Given the description of an element on the screen output the (x, y) to click on. 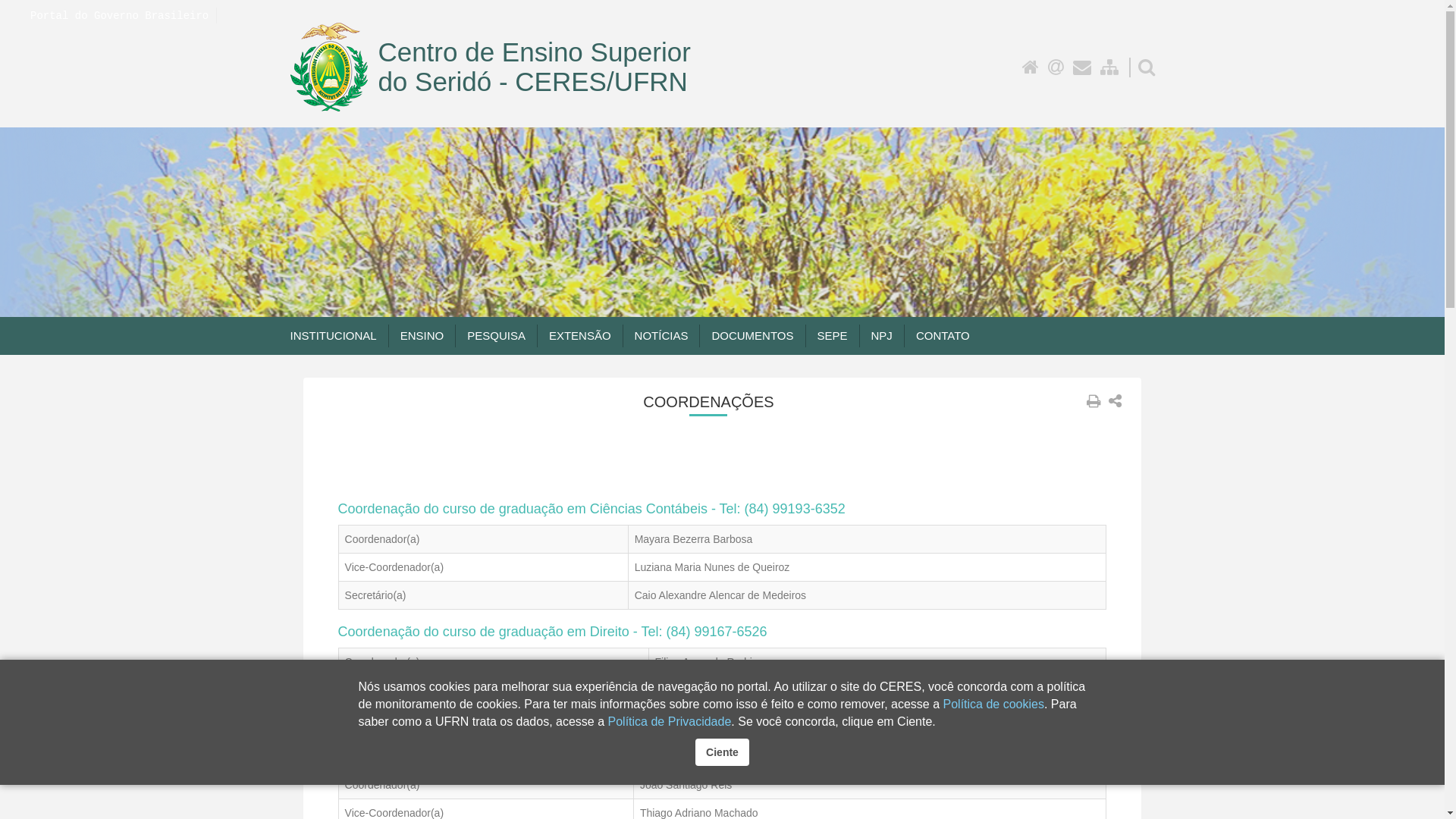
Portal do Governo Brasileiro Element type: text (119, 15)
SEPE Element type: text (832, 335)
ENSINO Element type: text (421, 335)
INSTITUCIONAL Element type: text (332, 335)
NPJ Element type: text (881, 335)
Pesquisar Element type: hover (1145, 66)
DOCUMENTOS Element type: text (751, 335)
CONTATO Element type: text (942, 335)
Fale conosco Element type: hover (1082, 66)
Acessar o mapa do site Element type: hover (1109, 66)
Ciente Element type: text (722, 751)
Acessar Webmail Element type: hover (1055, 66)
PESQUISA Element type: text (495, 335)
Imprimir Element type: hover (1093, 400)
